Given the description of an element on the screen output the (x, y) to click on. 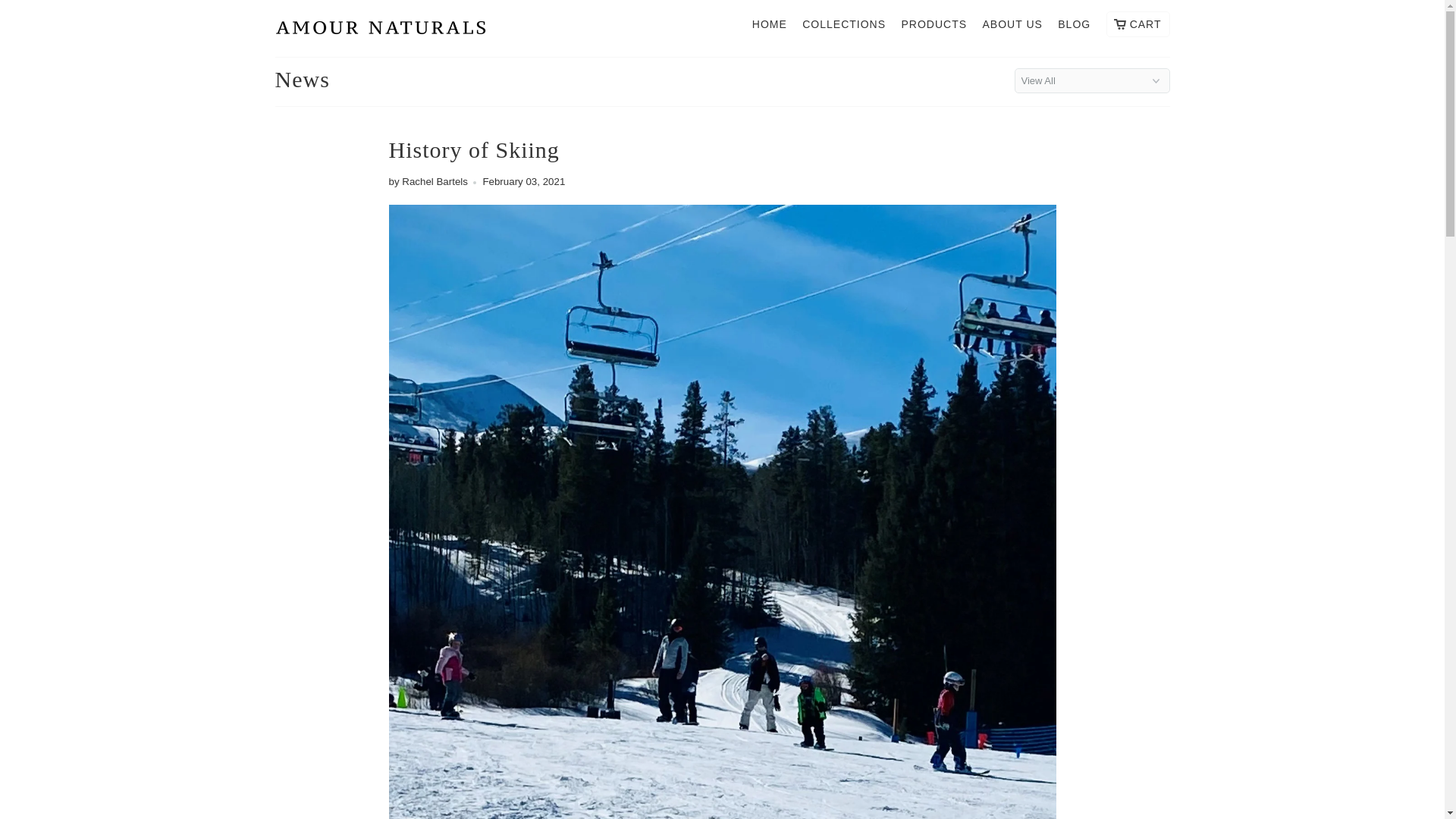
BLOG (1074, 27)
Cart (1138, 23)
ABOUT US (1012, 27)
HOME (769, 27)
COLLECTIONS (843, 27)
News (302, 78)
CART (1138, 23)
News (302, 78)
Amour Naturals (380, 28)
PRODUCTS (933, 27)
